Given the description of an element on the screen output the (x, y) to click on. 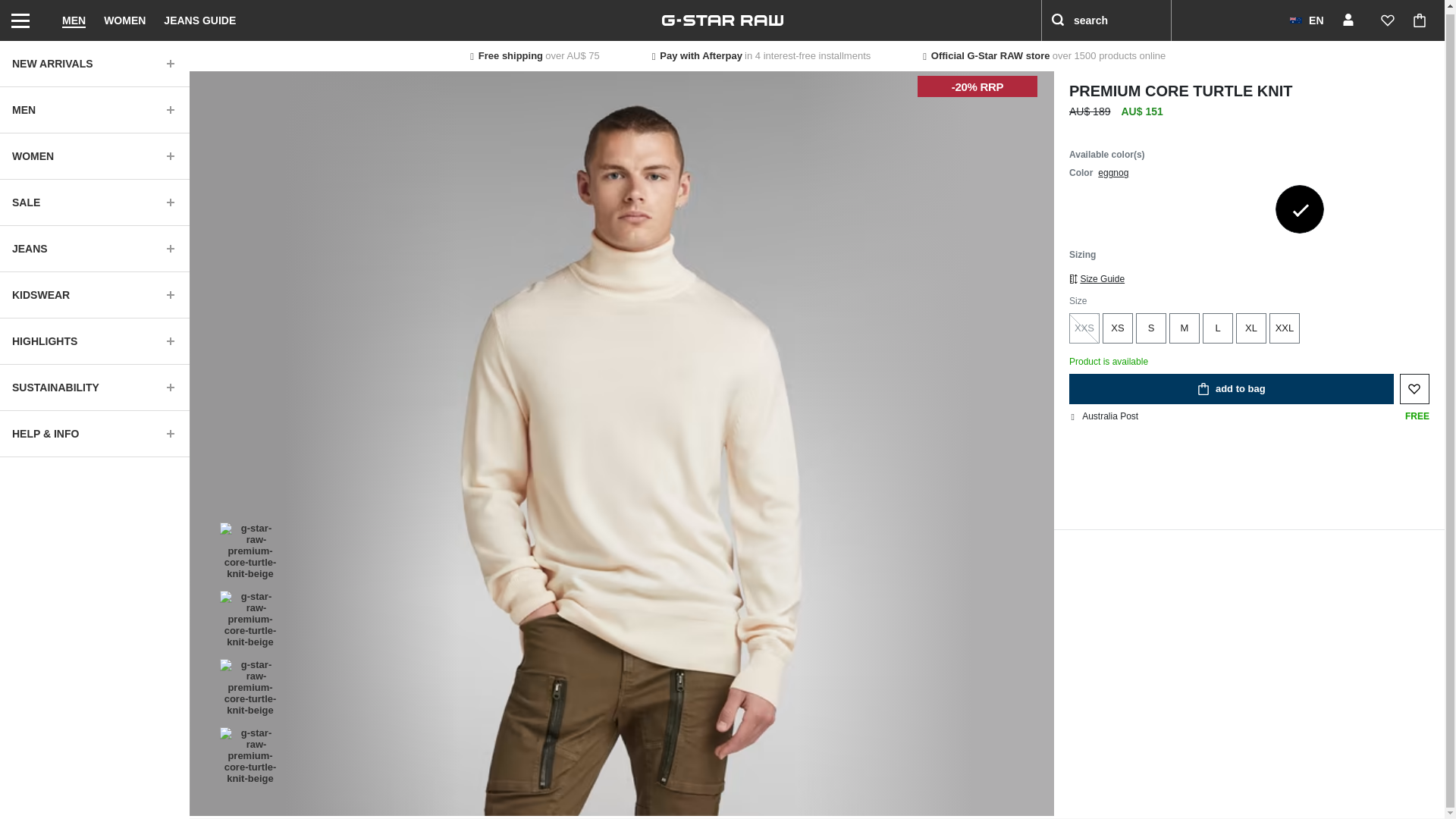
Premium Core Turtle Knit dark black (1093, 209)
NEW ARRIVALS (94, 60)
JEANS GUIDE (199, 18)
Premium Core Turtle Knit eggnog (1299, 208)
MEN (94, 106)
G-Star RAW (721, 18)
Premium Core Turtle Knitted Sweater dark olive (1248, 209)
EN (1306, 18)
Premium Core Turtle Knit salute (1196, 209)
MEN (73, 18)
